Given the description of an element on the screen output the (x, y) to click on. 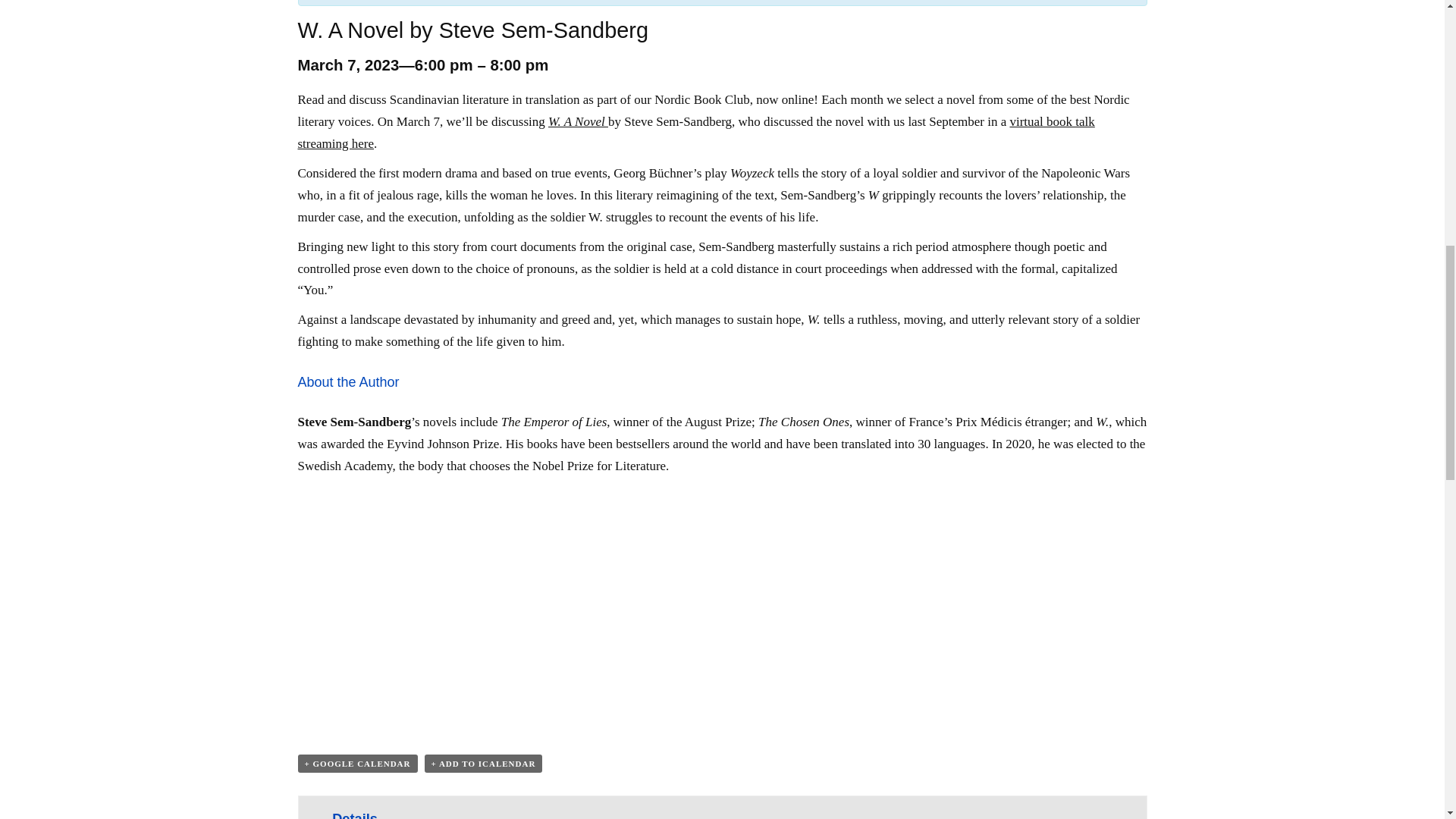
YouTube video player (509, 604)
Add to Google Calendar (356, 763)
Download .ics file (484, 763)
